Given the description of an element on the screen output the (x, y) to click on. 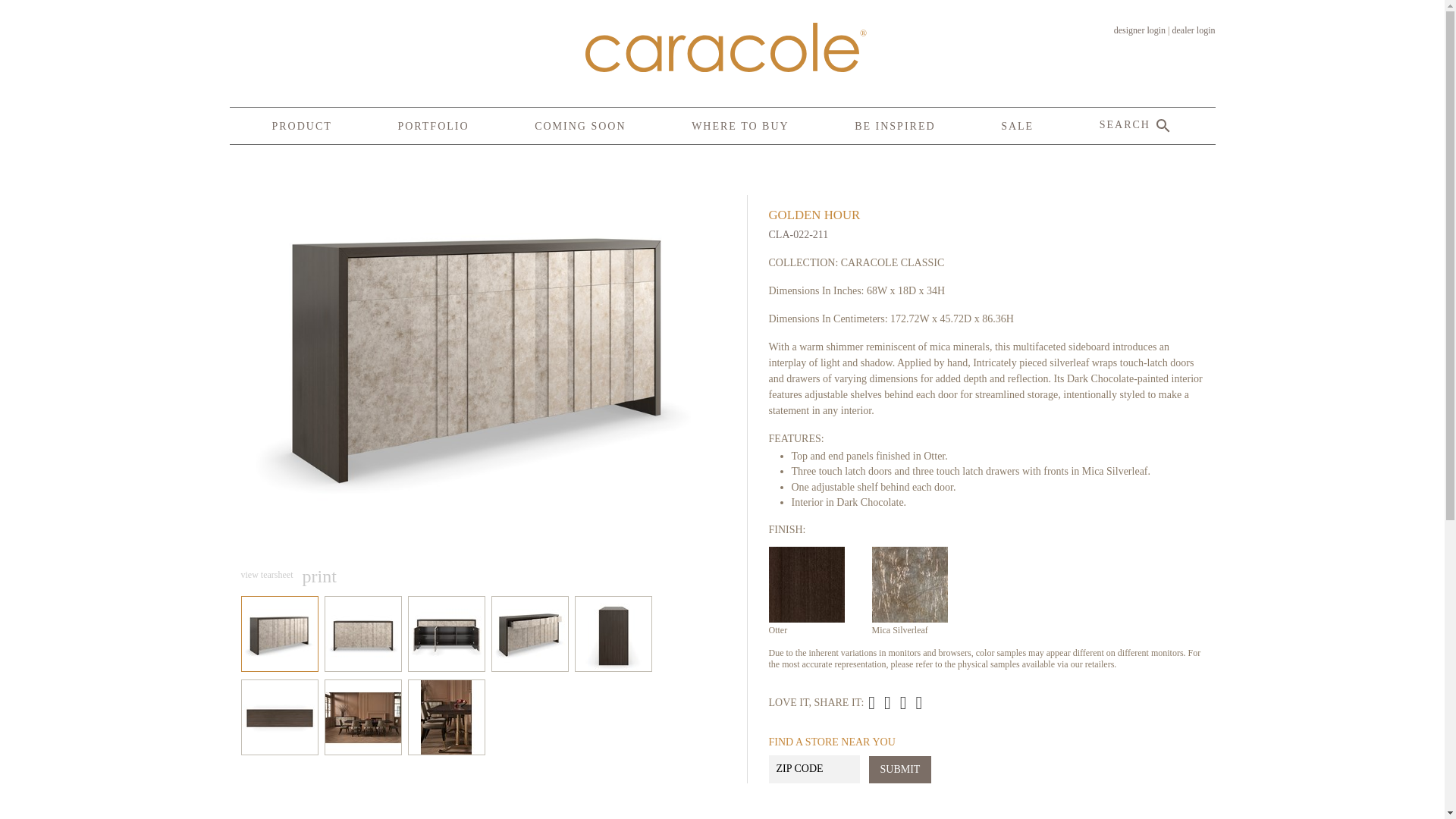
Caracole (722, 47)
Golden Hour (894, 702)
